Given the description of an element on the screen output the (x, y) to click on. 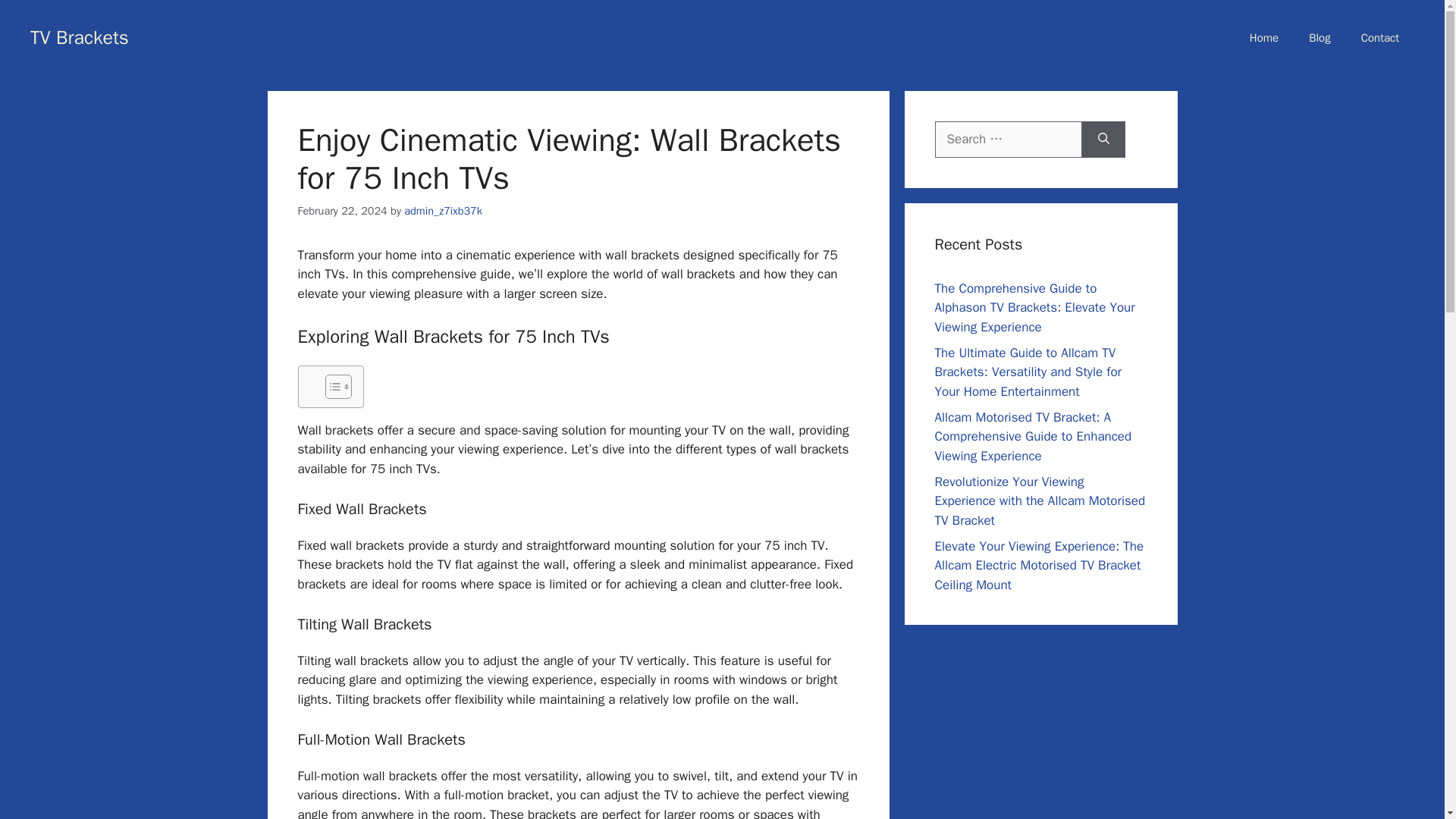
Home (1264, 37)
Contact (1379, 37)
TV Brackets (79, 37)
Blog (1319, 37)
Search for: (1007, 139)
